Given the description of an element on the screen output the (x, y) to click on. 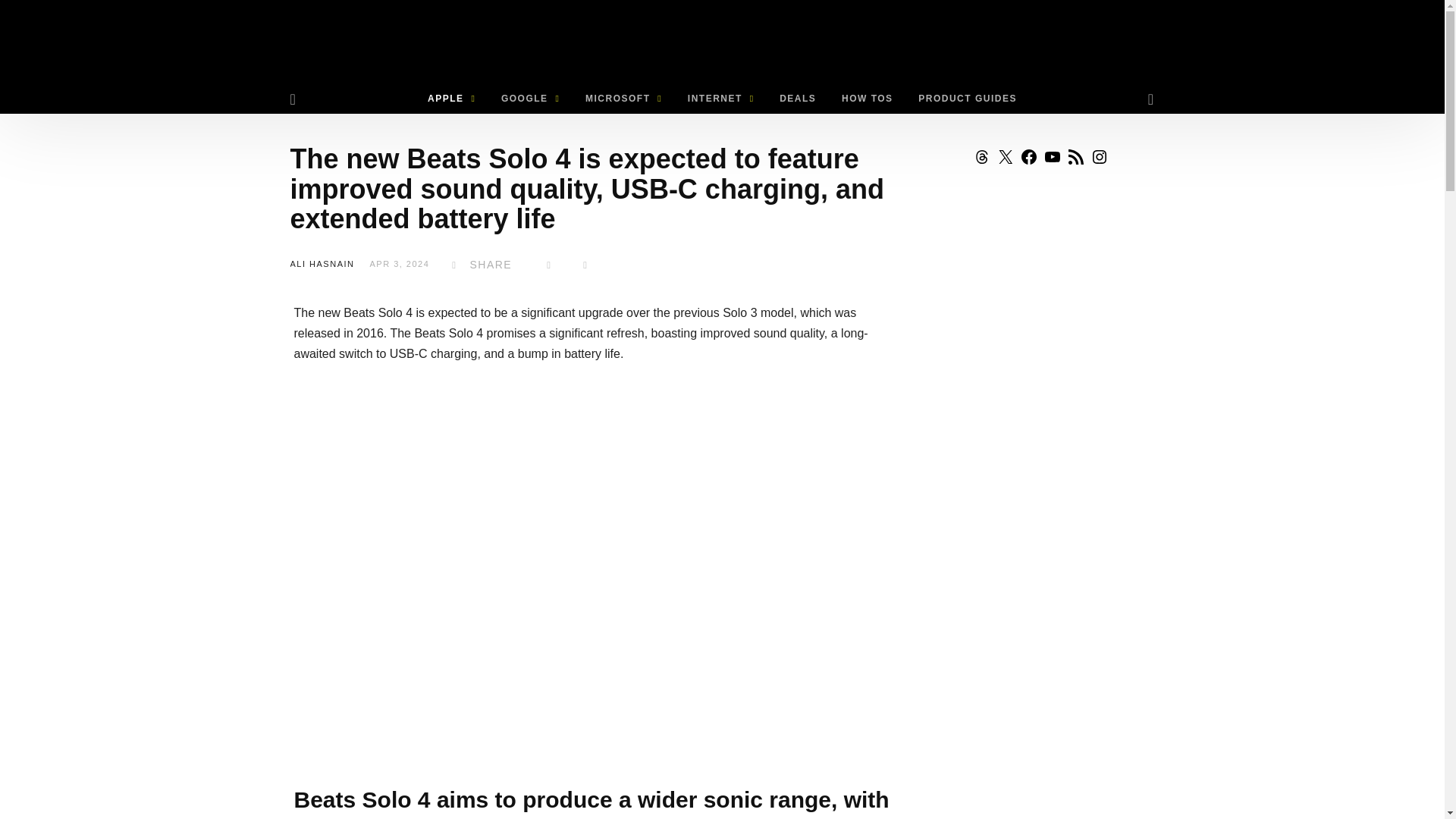
HOW TOS (866, 98)
PRODUCT GUIDES (967, 98)
Share on Facebook (478, 264)
ALI HASNAIN (321, 263)
MICROSOFT (622, 98)
DEALS (797, 98)
More (584, 264)
SHARE (478, 264)
Posts by Ali Hasnain (321, 263)
APPLE (451, 98)
